Given the description of an element on the screen output the (x, y) to click on. 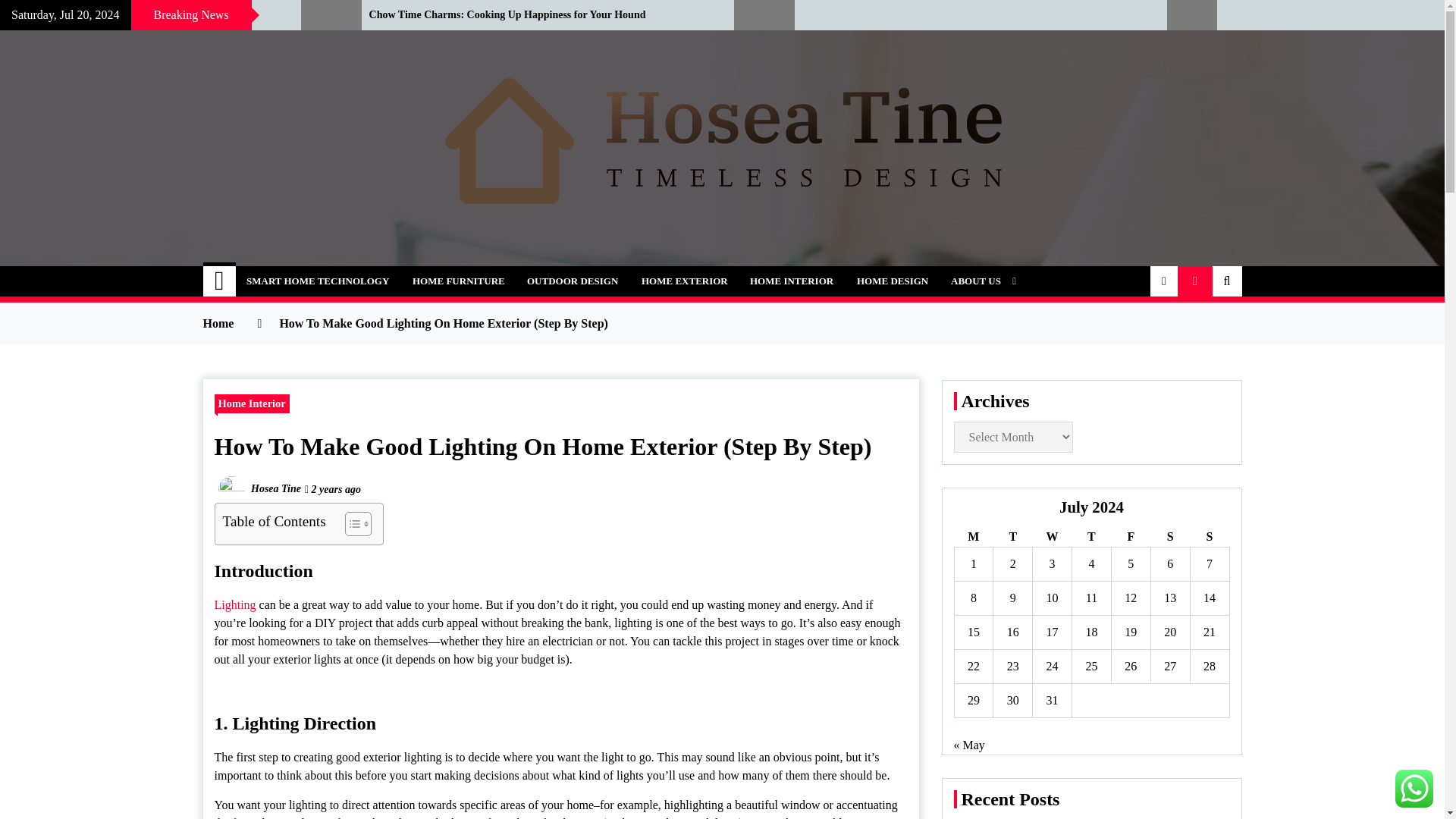
Modern Home Design Exterior (139, 15)
Home (219, 281)
Chow Time Charms: Cooking Up Happiness for Your Hound (540, 15)
Wednesday (1051, 537)
Monday (972, 537)
Friday (1130, 537)
Thursday (1091, 537)
Tuesday (1012, 537)
